Given the description of an element on the screen output the (x, y) to click on. 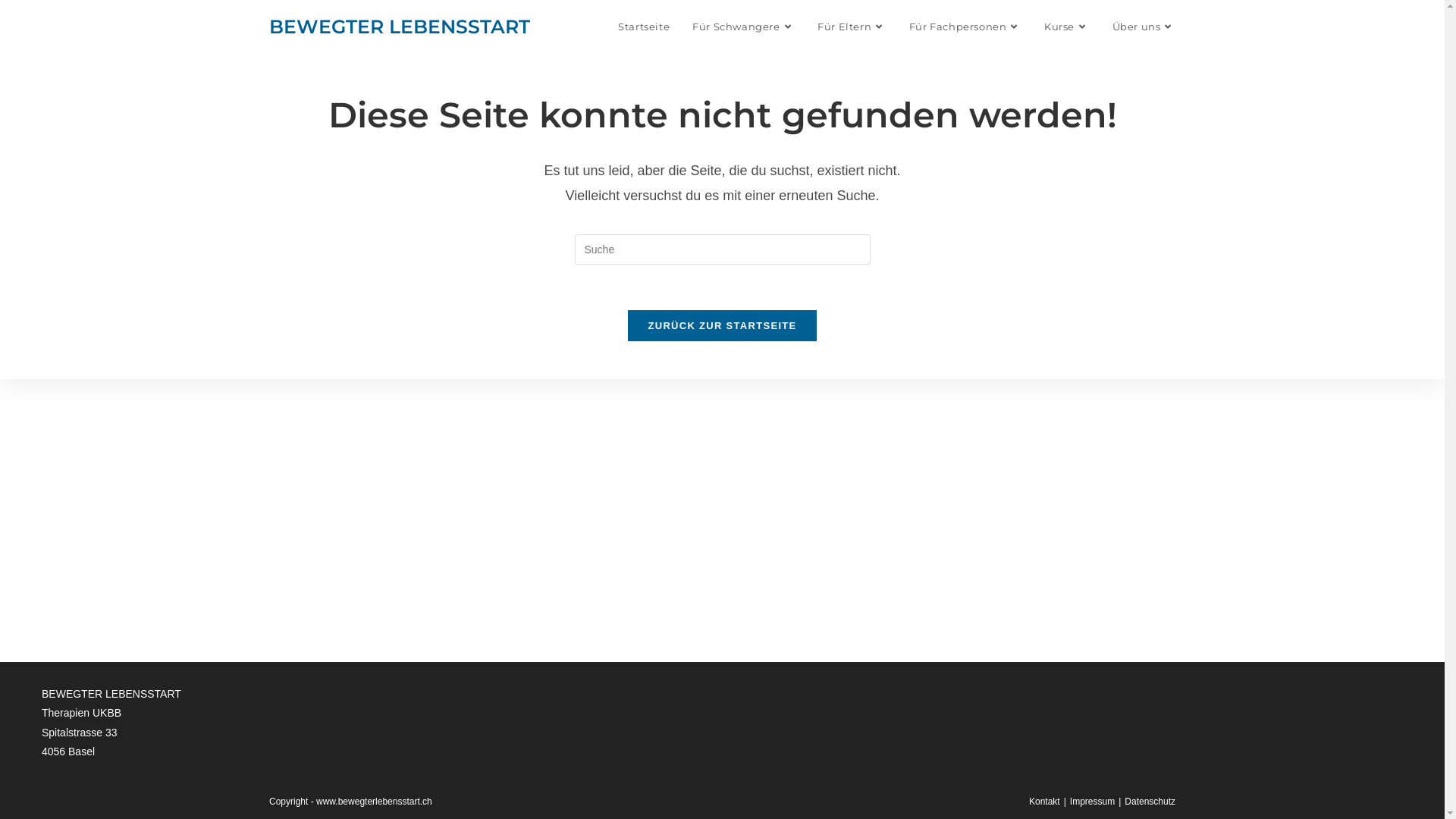
Impressum Element type: text (1092, 801)
BEWEGTER LEBENSSTART Element type: text (399, 26)
Kurse Element type: text (1066, 26)
Kontakt Element type: text (1044, 801)
Startseite Element type: text (643, 26)
Datenschutz Element type: text (1149, 801)
